Given the description of an element on the screen output the (x, y) to click on. 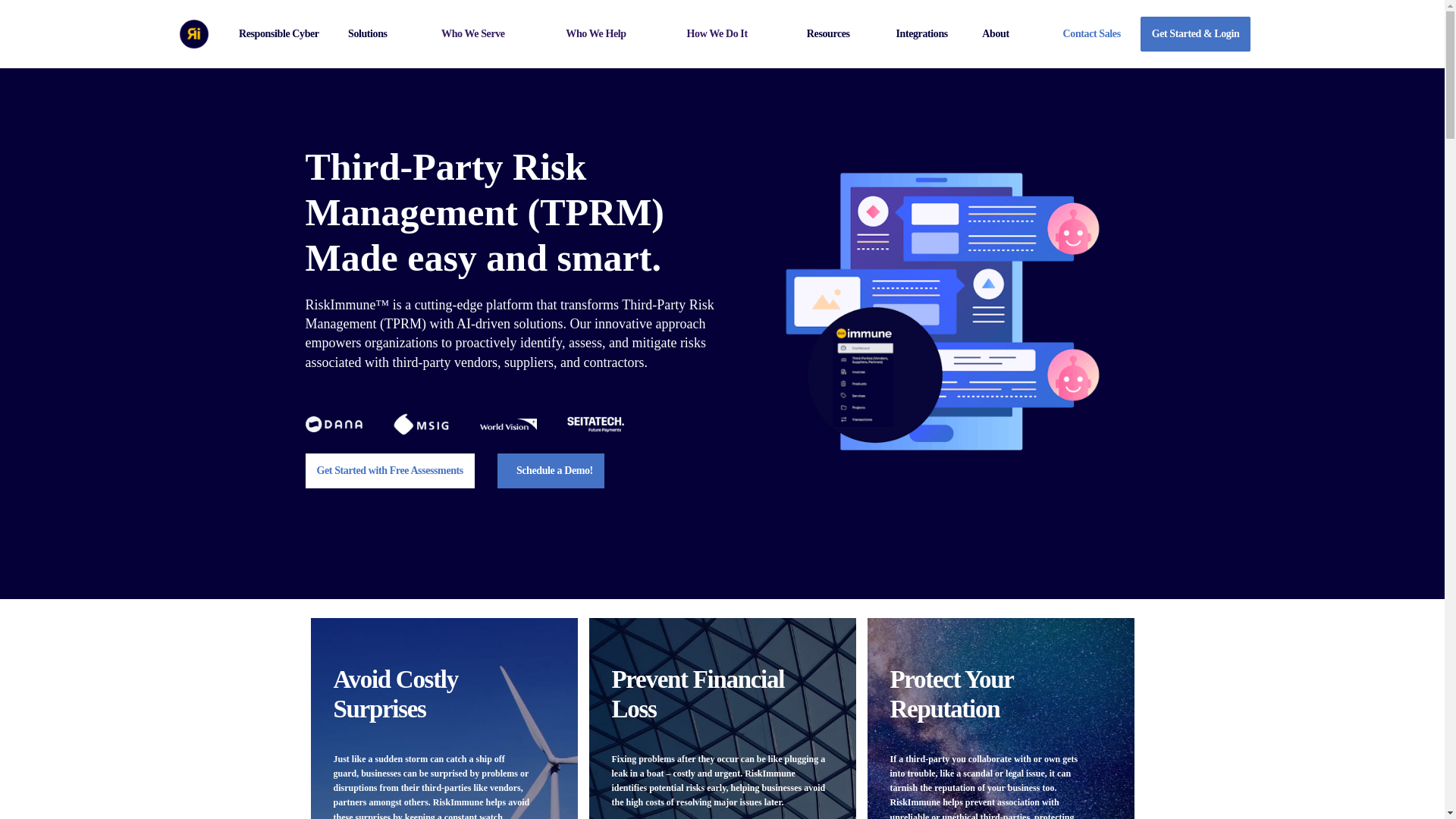
Schedule a Demo! (550, 470)
Get Started with Free Assessments (389, 470)
Integrations (921, 33)
Contact Sales (1091, 33)
